Given the description of an element on the screen output the (x, y) to click on. 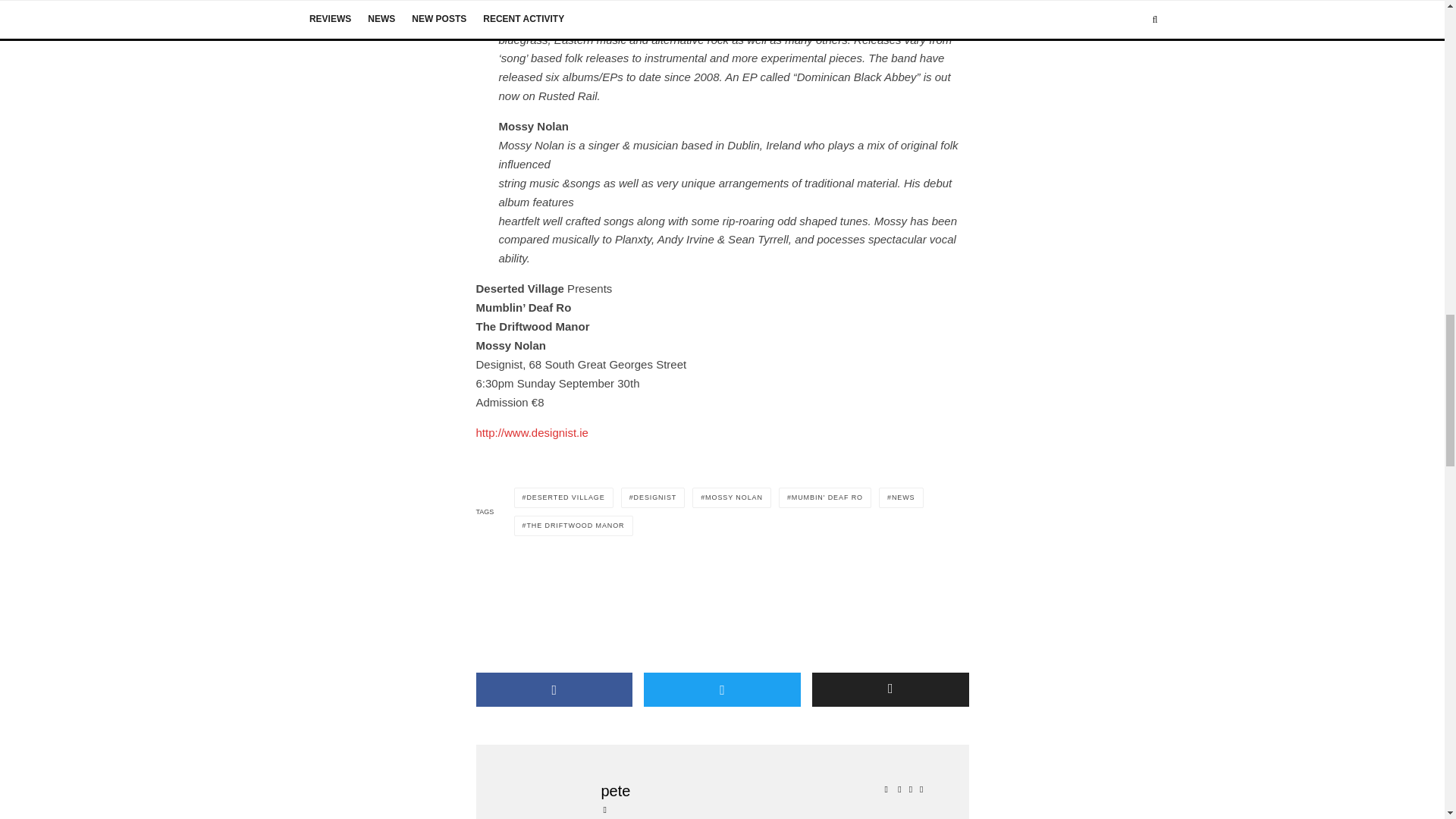
NEWS (901, 497)
THE DRIFTWOOD MANOR (573, 525)
DESIGNIST (653, 497)
pete (764, 790)
MOSSY NOLAN (732, 497)
DESERTED VILLAGE (562, 497)
MUMBIN' DEAF RO (824, 497)
